Given the description of an element on the screen output the (x, y) to click on. 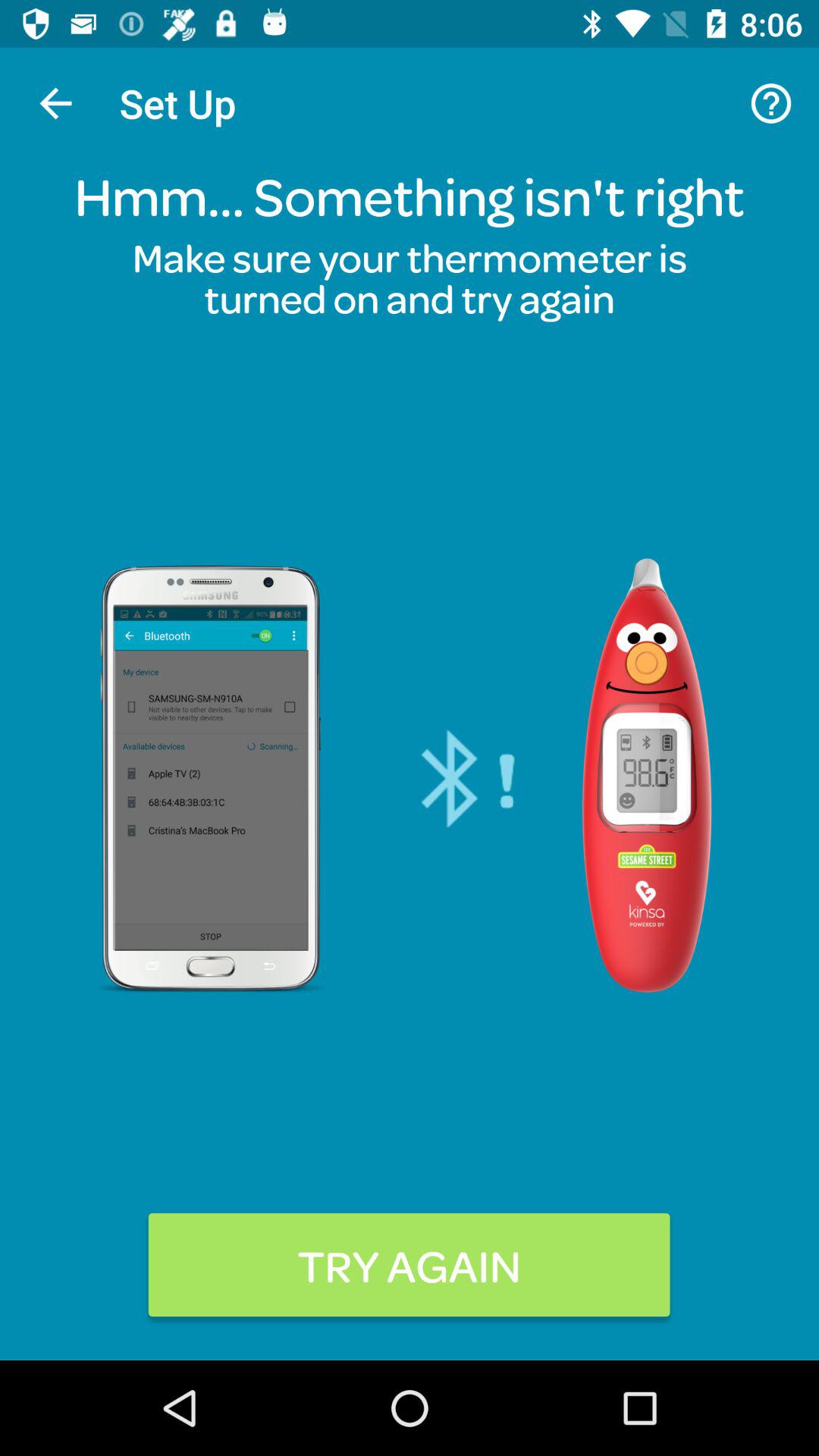
open the icon next to the set up item (771, 103)
